Given the description of an element on the screen output the (x, y) to click on. 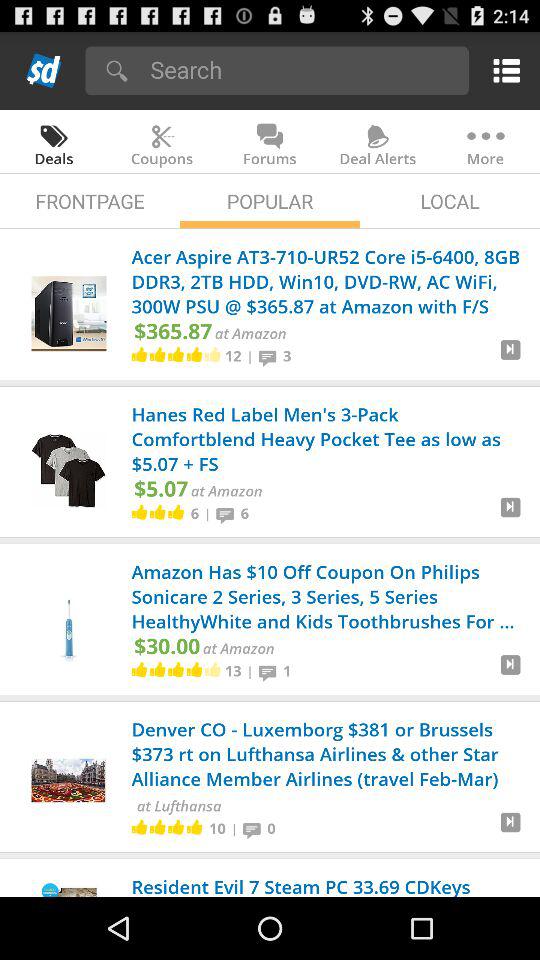
launch the item above the more app (502, 70)
